Given the description of an element on the screen output the (x, y) to click on. 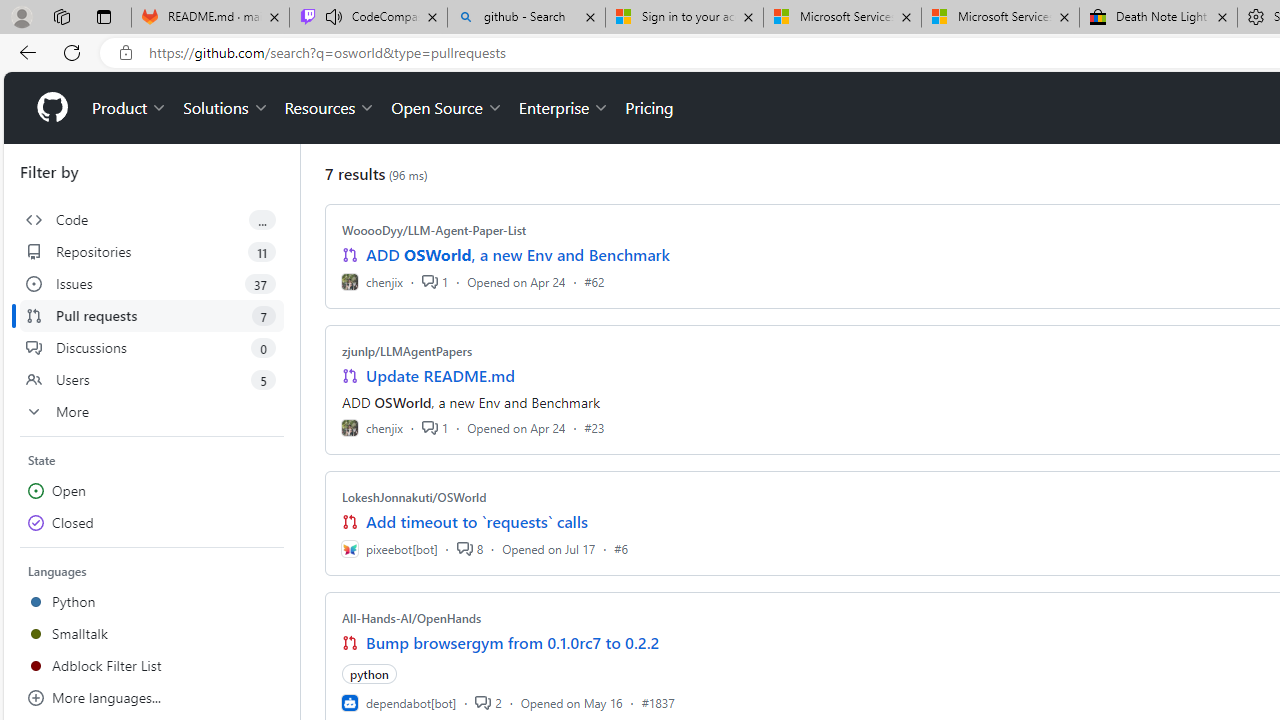
Product (130, 107)
